Given the description of an element on the screen output the (x, y) to click on. 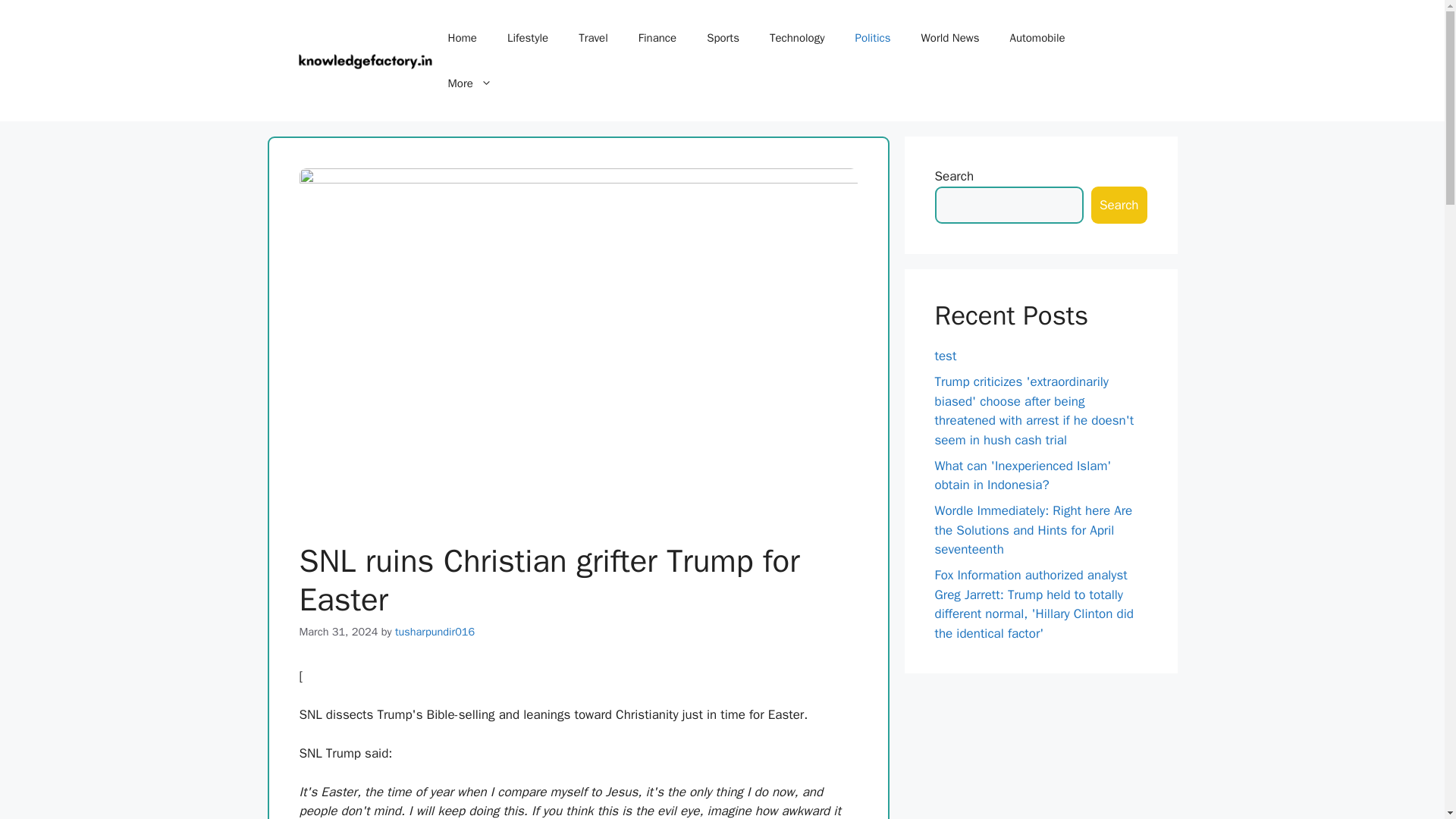
What can 'Inexperienced Islam' obtain in Indonesia? (1022, 475)
Automobile (1037, 37)
Lifestyle (527, 37)
World News (949, 37)
Search (1118, 205)
Finance (657, 37)
tusharpundir016 (434, 631)
Sports (722, 37)
